Given the description of an element on the screen output the (x, y) to click on. 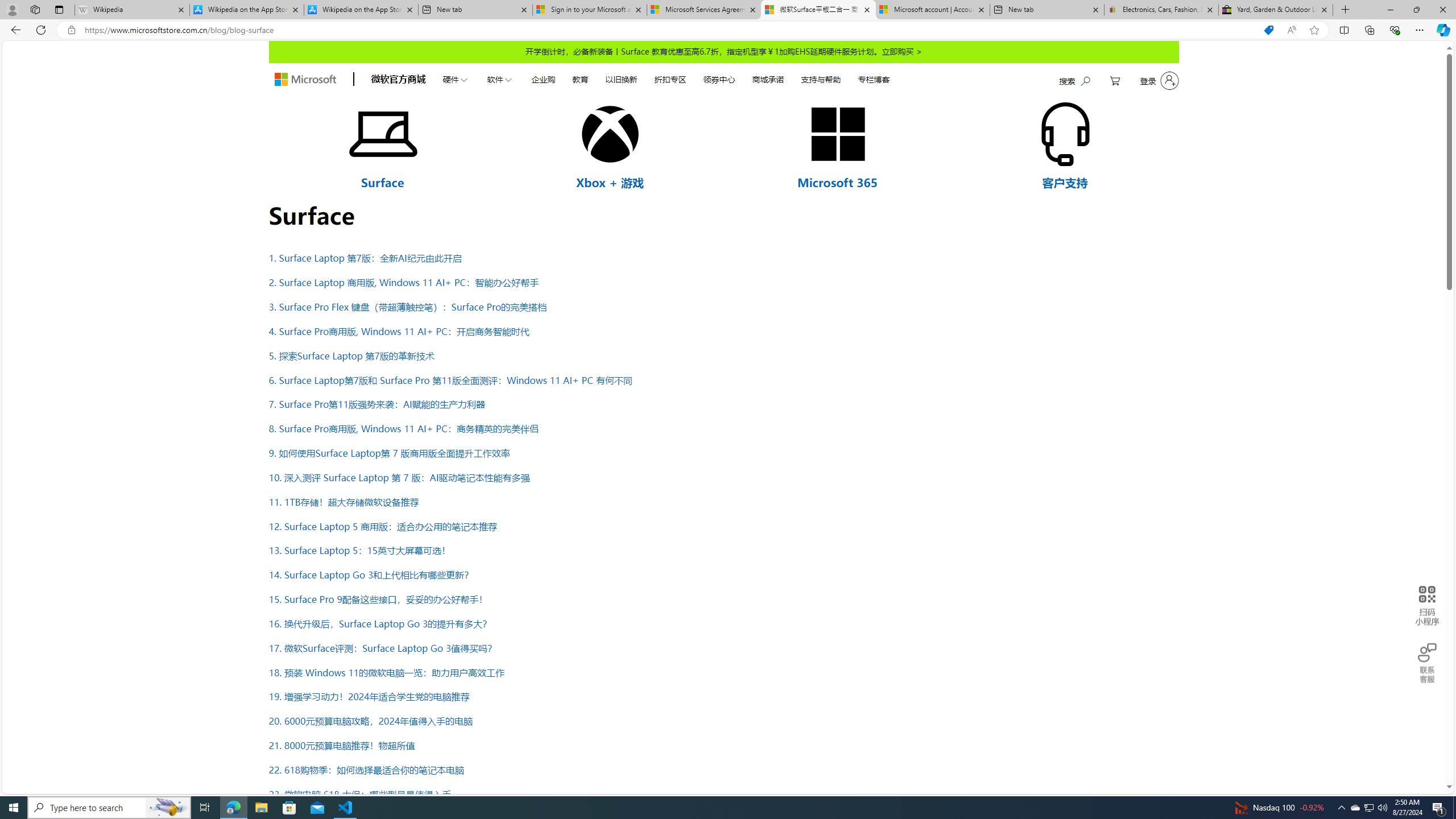
New tab (1047, 9)
Microsoft (304, 79)
Wikipedia - Sleeping (132, 9)
store logo (304, 79)
Address and search bar (669, 29)
Surface (382, 182)
App bar (728, 29)
